Given the description of an element on the screen output the (x, y) to click on. 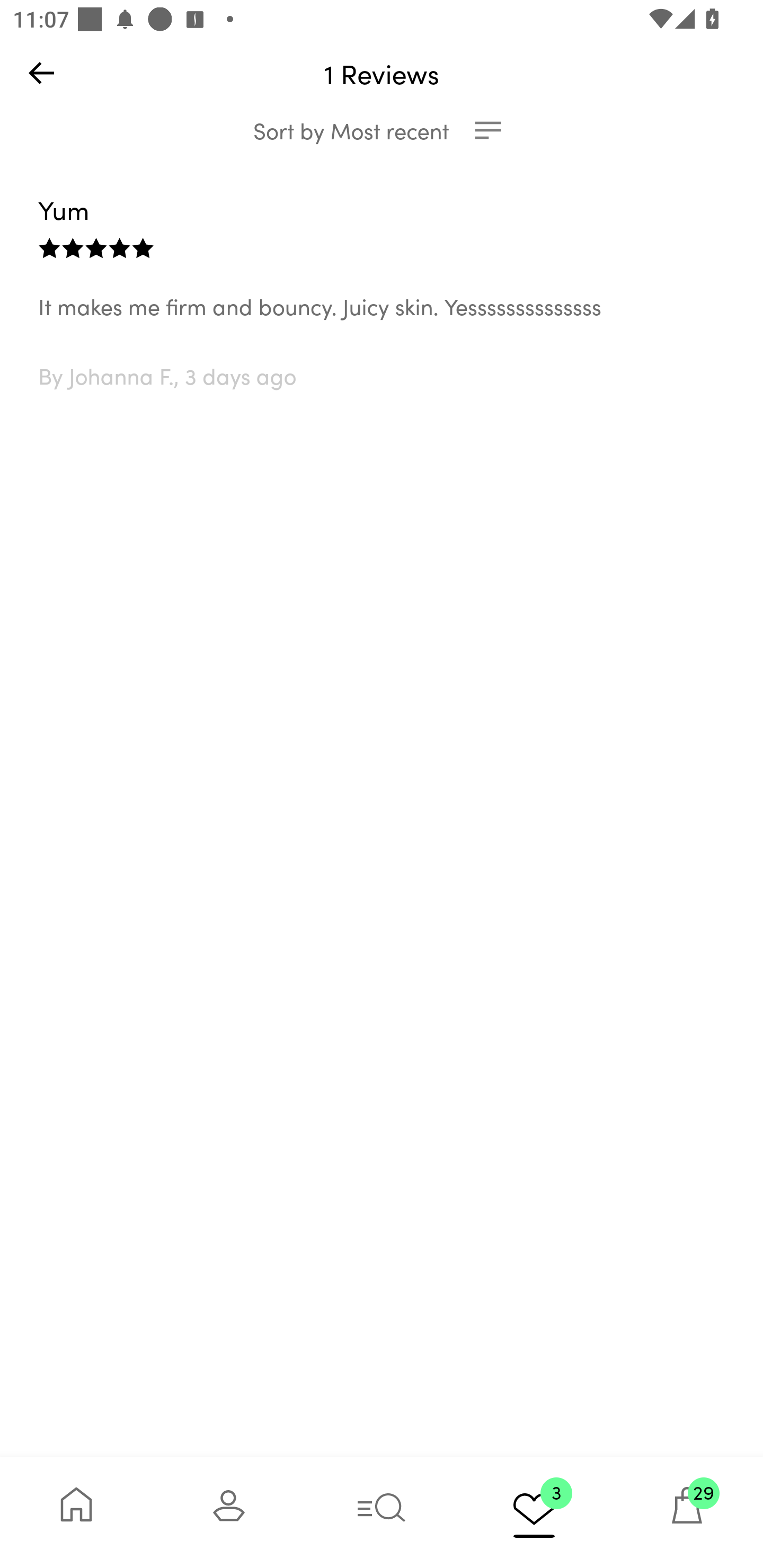
Sort by Most recent (381, 130)
3 (533, 1512)
29 (686, 1512)
